Given the description of an element on the screen output the (x, y) to click on. 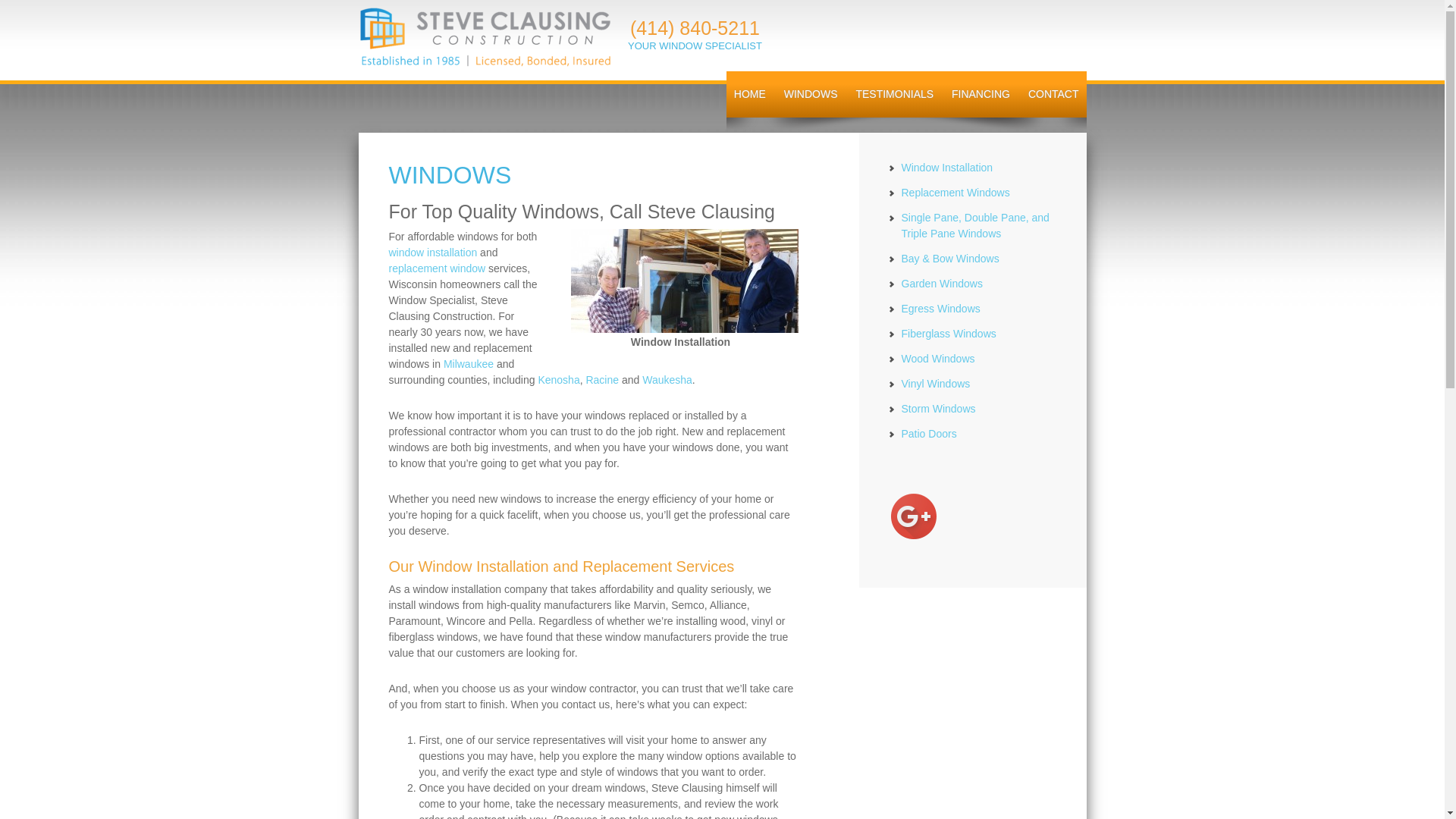
Wood Windows (937, 358)
window installation (432, 252)
Racine (601, 379)
replacement window (436, 268)
Milwaukee (468, 363)
Replacement Windows (955, 192)
Waukesha (667, 379)
Milwaukee (468, 363)
Single Pane, Double Pane, and Triple Pane Windows (974, 225)
TESTIMONIALS (893, 94)
Storm Windows (938, 408)
Vinyl Windows (935, 383)
CONTACT (1053, 94)
Racine (601, 379)
Egress Windows (940, 308)
